Given the description of an element on the screen output the (x, y) to click on. 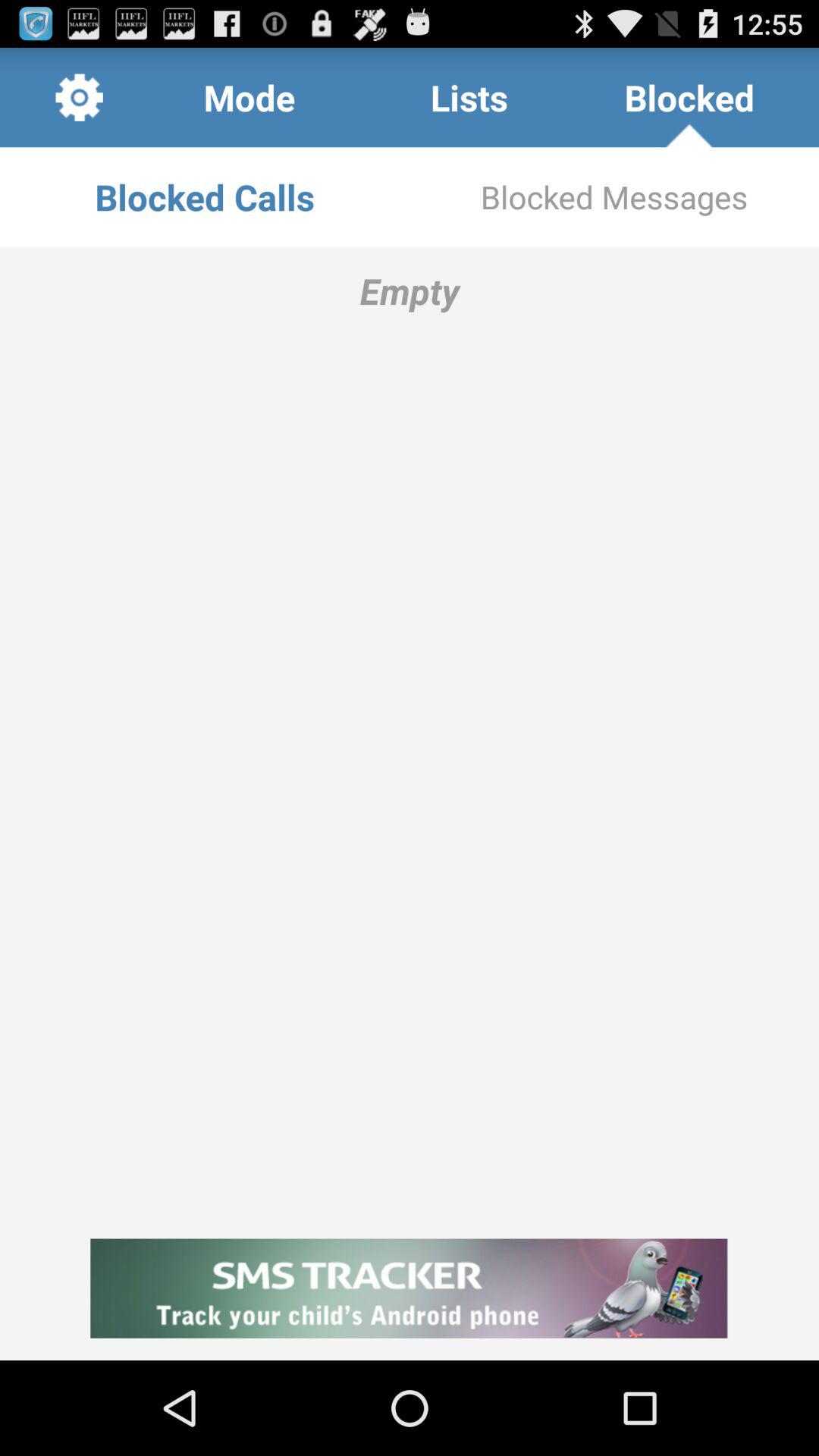
turn off the app next to the lists (249, 97)
